Given the description of an element on the screen output the (x, y) to click on. 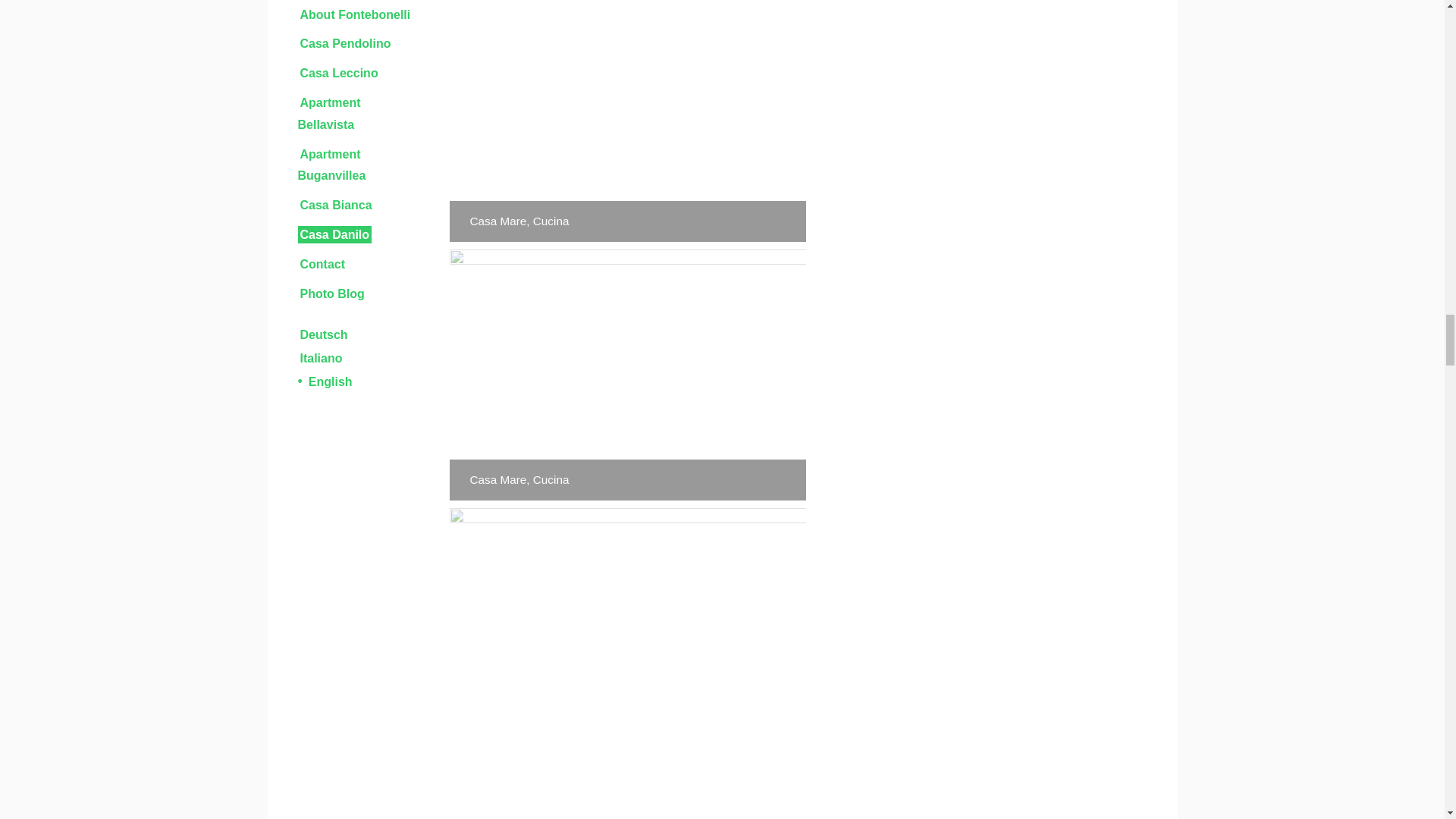
Casa Mare, Cucina (626, 374)
Casa Mare, Cucina (626, 120)
Casa Mare, Cucina (626, 663)
